Given the description of an element on the screen output the (x, y) to click on. 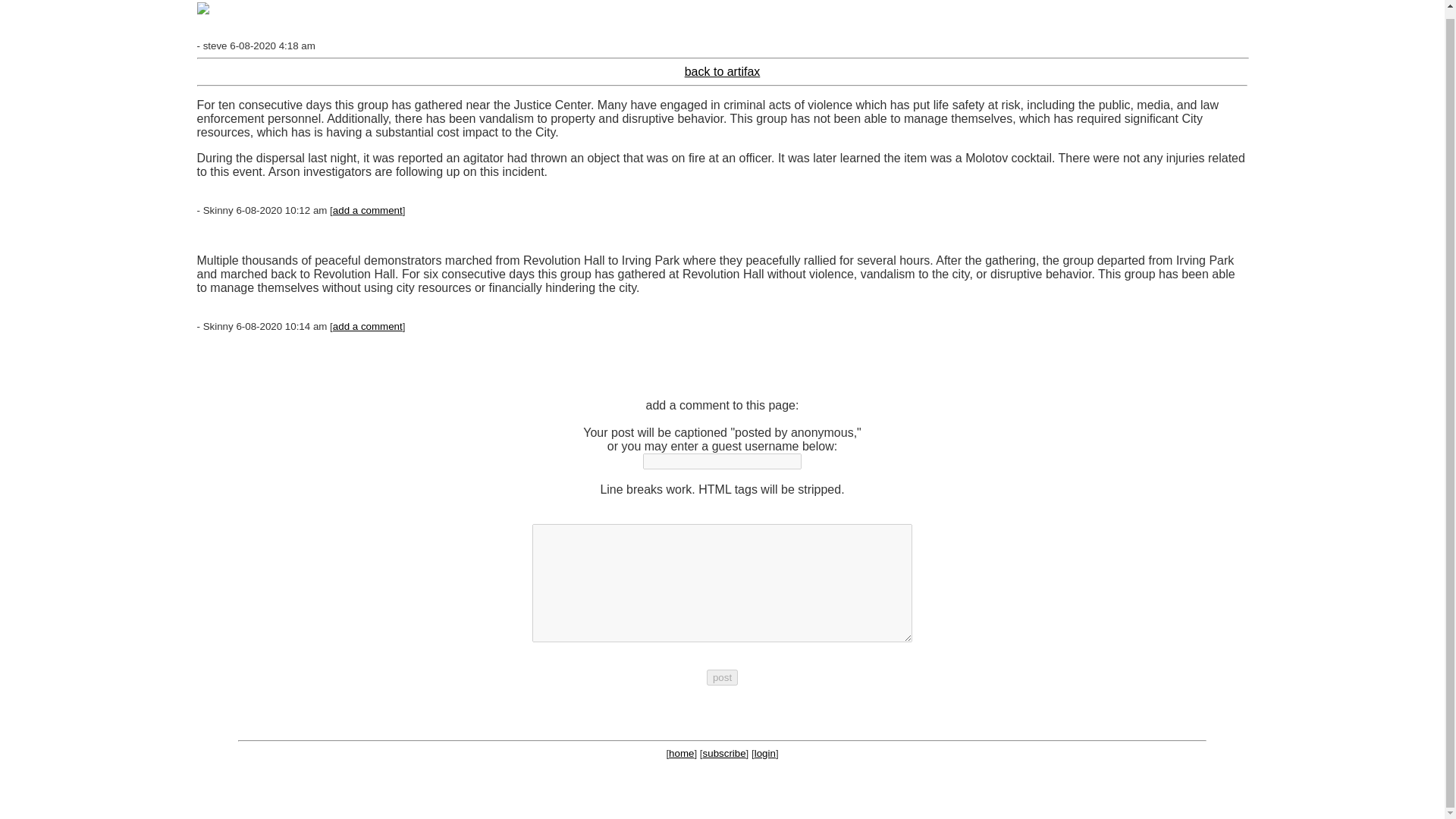
add a comment (368, 326)
login (765, 753)
add a comment (368, 210)
back to artifax (722, 71)
subscribe (724, 753)
home (681, 753)
post (722, 677)
post (722, 677)
